Given the description of an element on the screen output the (x, y) to click on. 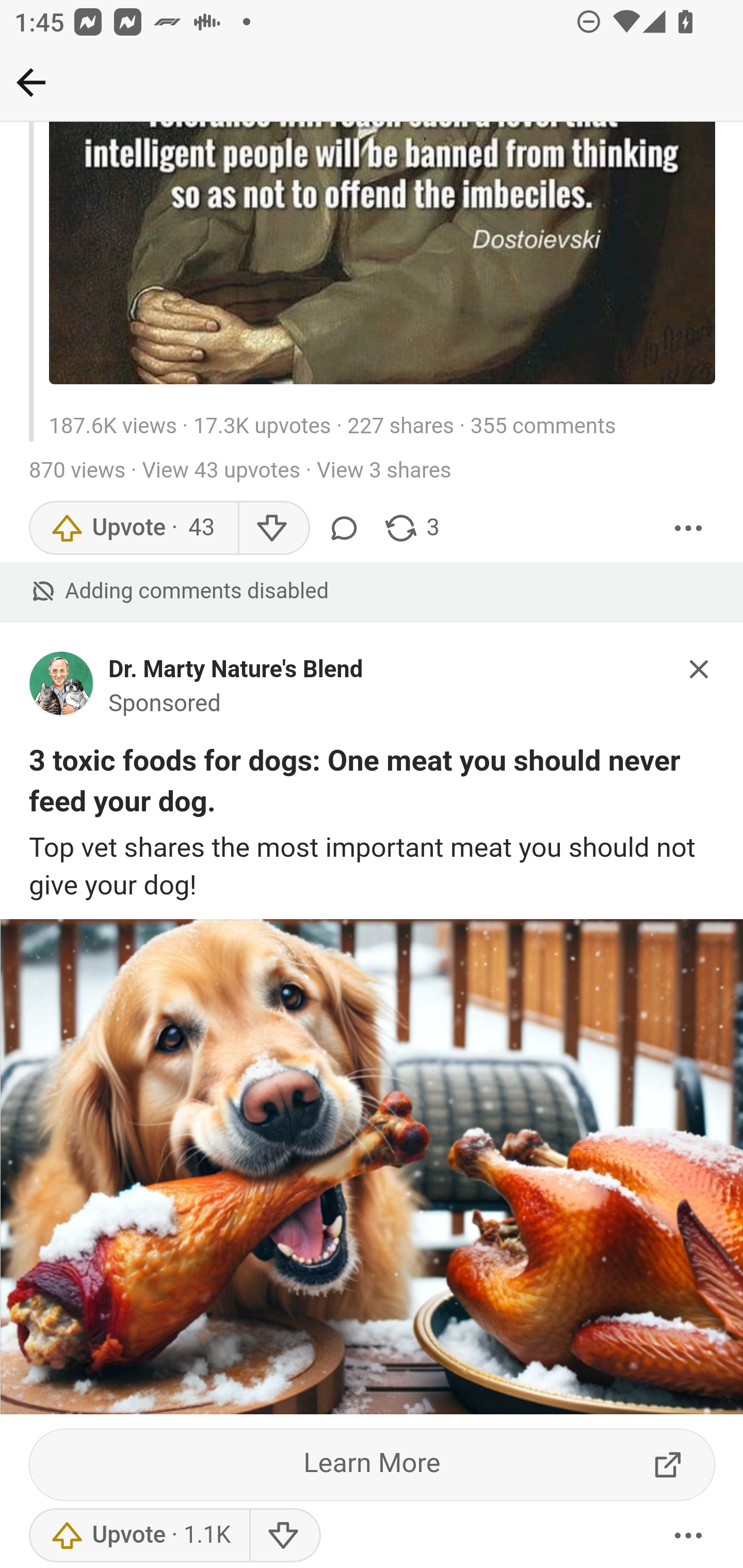
Back (30, 82)
187.6K views (112, 428)
17.3K upvotes (261, 428)
227 shares (400, 428)
355 comments (543, 428)
View 43 upvotes (221, 473)
View 3 shares (384, 473)
Upvote (133, 529)
Downvote (273, 529)
Comment (346, 529)
3 shares (411, 529)
More (688, 529)
Hide (699, 671)
main-qimg-e8746c09aa0d4ed8a963f1deceb459e8 (61, 690)
Dr. Marty Nature's Blend (236, 670)
Sponsored (165, 705)
Learn More ExternalLink (372, 1466)
Upvote (138, 1537)
Downvote (283, 1537)
More (688, 1537)
